Given the description of an element on the screen output the (x, y) to click on. 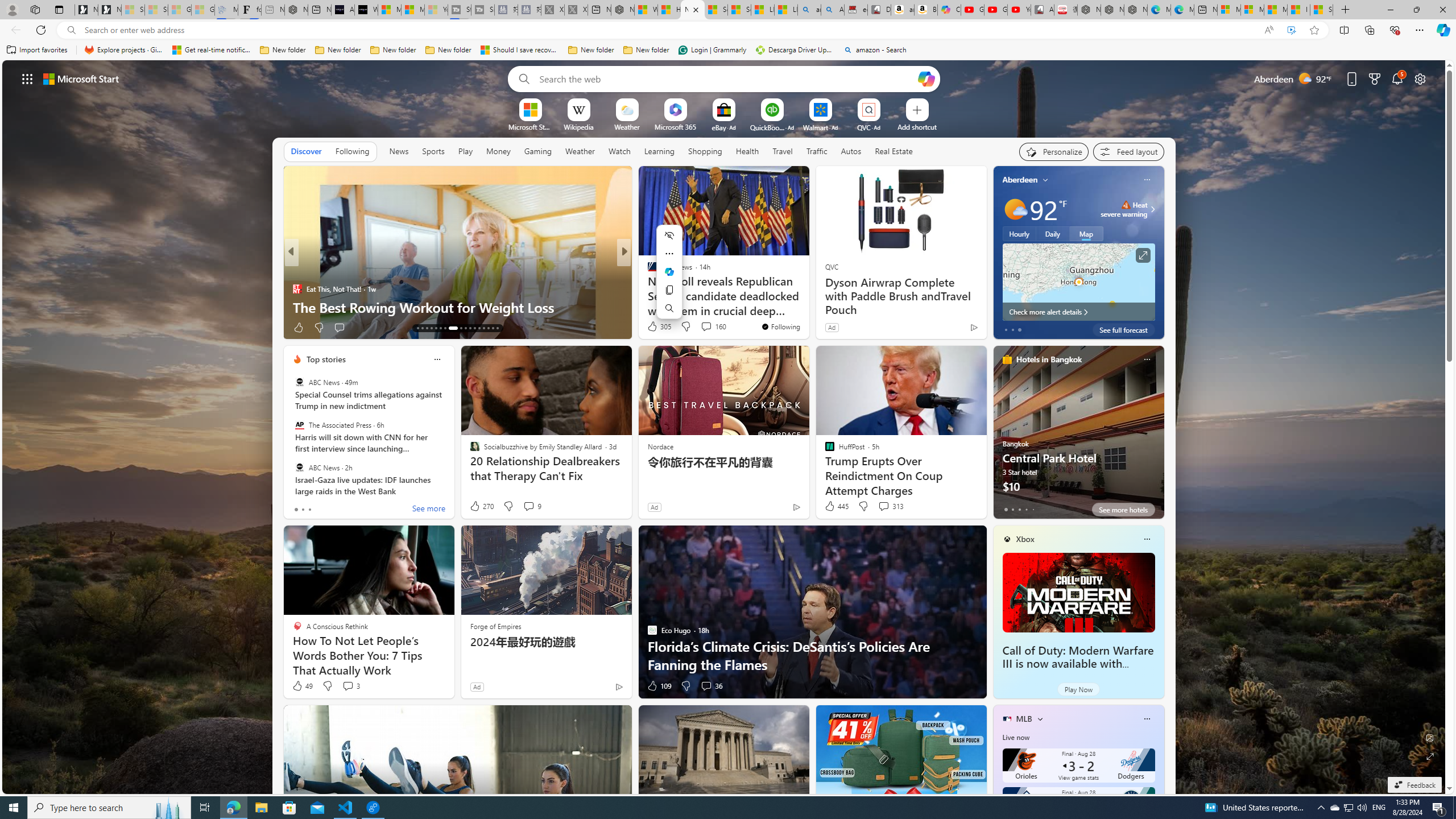
Nordace (659, 446)
View comments 5 Comment (702, 327)
Kathy Kingsley (647, 270)
Search (520, 78)
Traffic (816, 151)
AutomationID: tab-24 (474, 328)
Watch (619, 151)
Autos (851, 151)
X - Sleeping (575, 9)
Real Estate (893, 151)
270 Like (480, 505)
Sports (432, 151)
ABC News (299, 466)
QVC (831, 266)
